Given the description of an element on the screen output the (x, y) to click on. 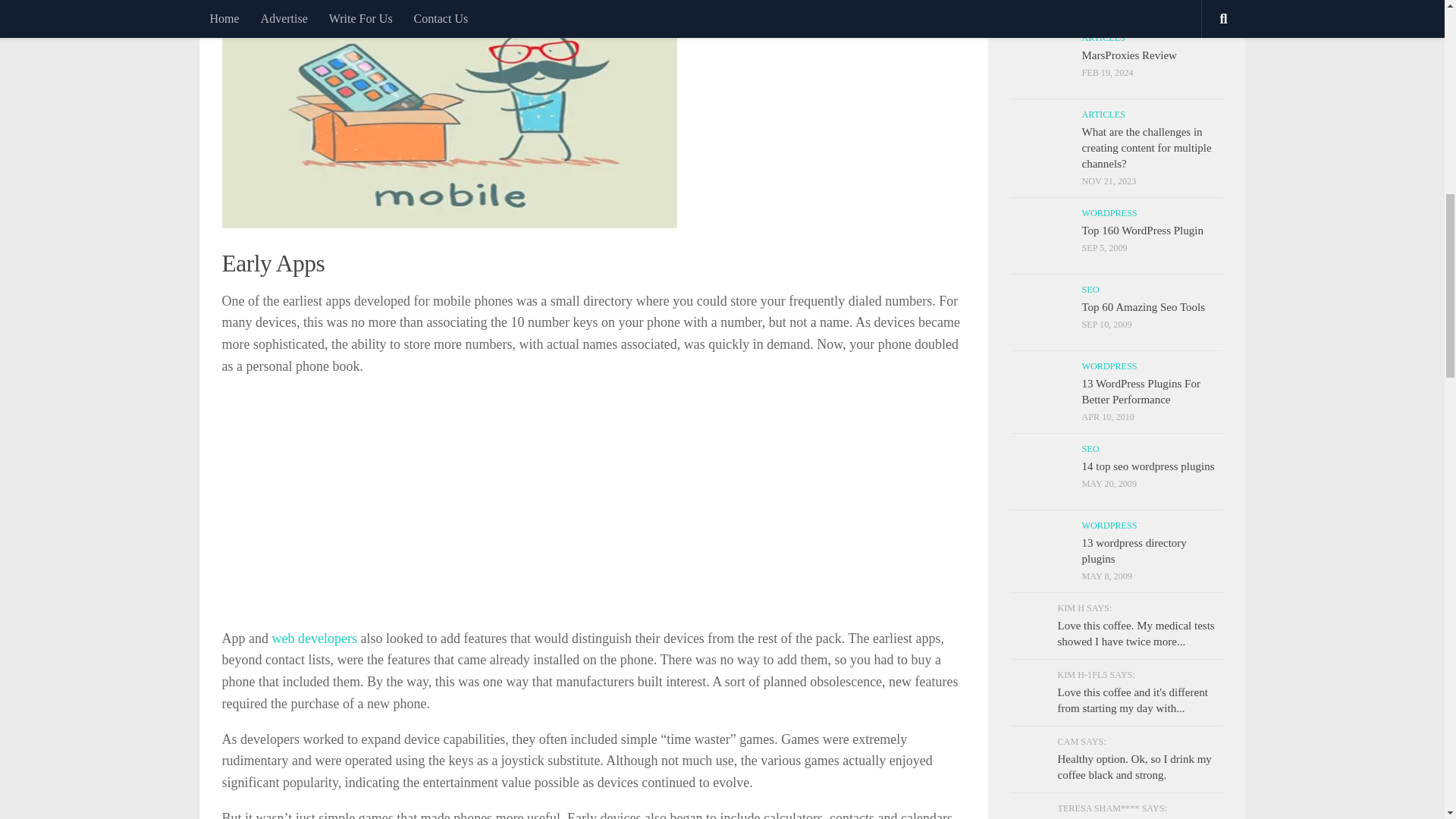
web developers (313, 638)
